Given the description of an element on the screen output the (x, y) to click on. 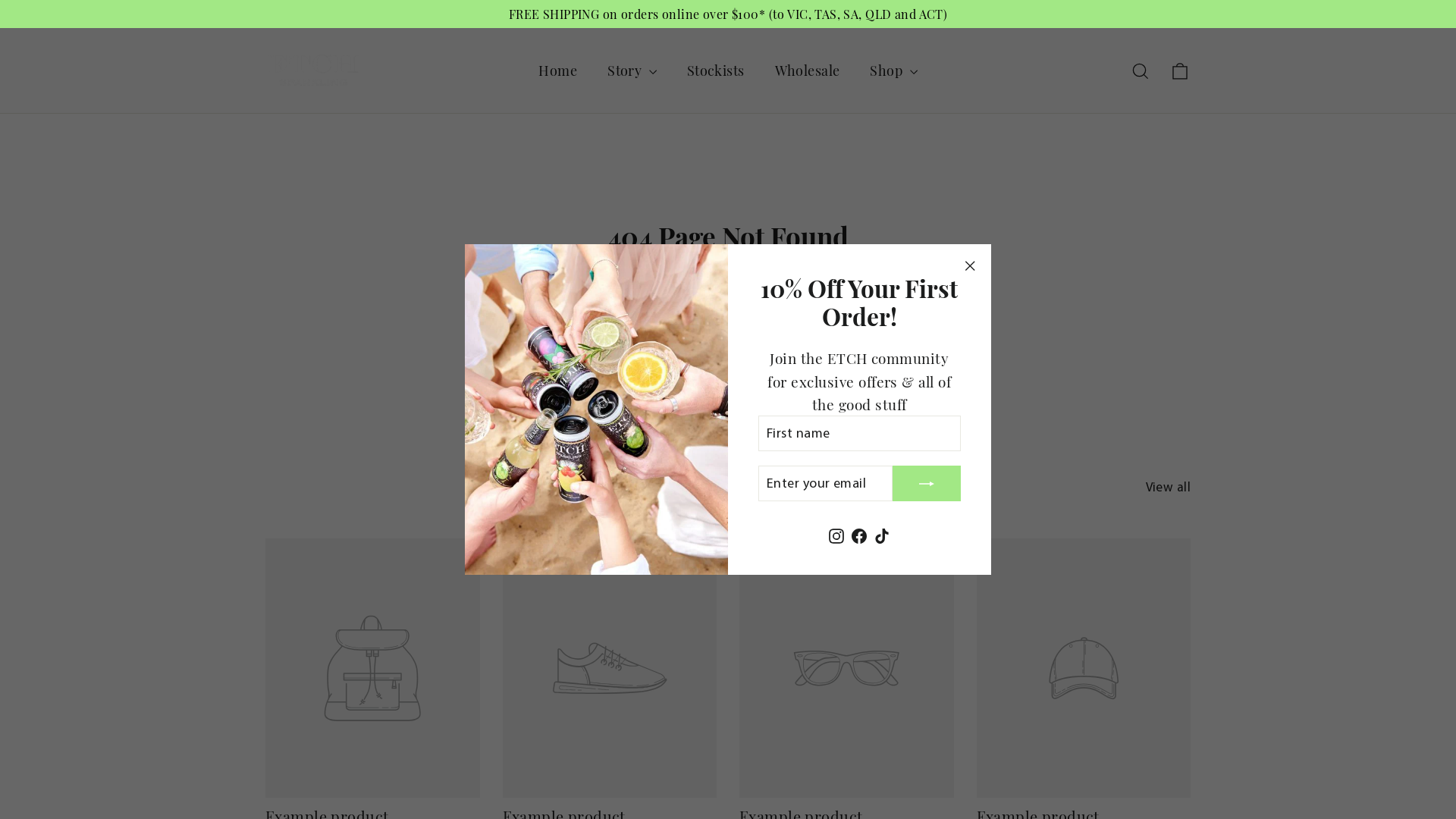
"Close (esc)" Element type: text (970, 265)
Stockists Element type: text (715, 70)
TikTok Element type: text (881, 534)
Continue shopping Element type: text (727, 302)
Wholesale Element type: text (807, 70)
Cart Element type: text (1179, 70)
Instagram Element type: text (836, 534)
View all Element type: text (1167, 483)
Shop Element type: text (892, 70)
Facebook Element type: text (858, 534)
Search Element type: text (1140, 70)
Story Element type: text (631, 70)
Home Element type: text (557, 70)
